Given the description of an element on the screen output the (x, y) to click on. 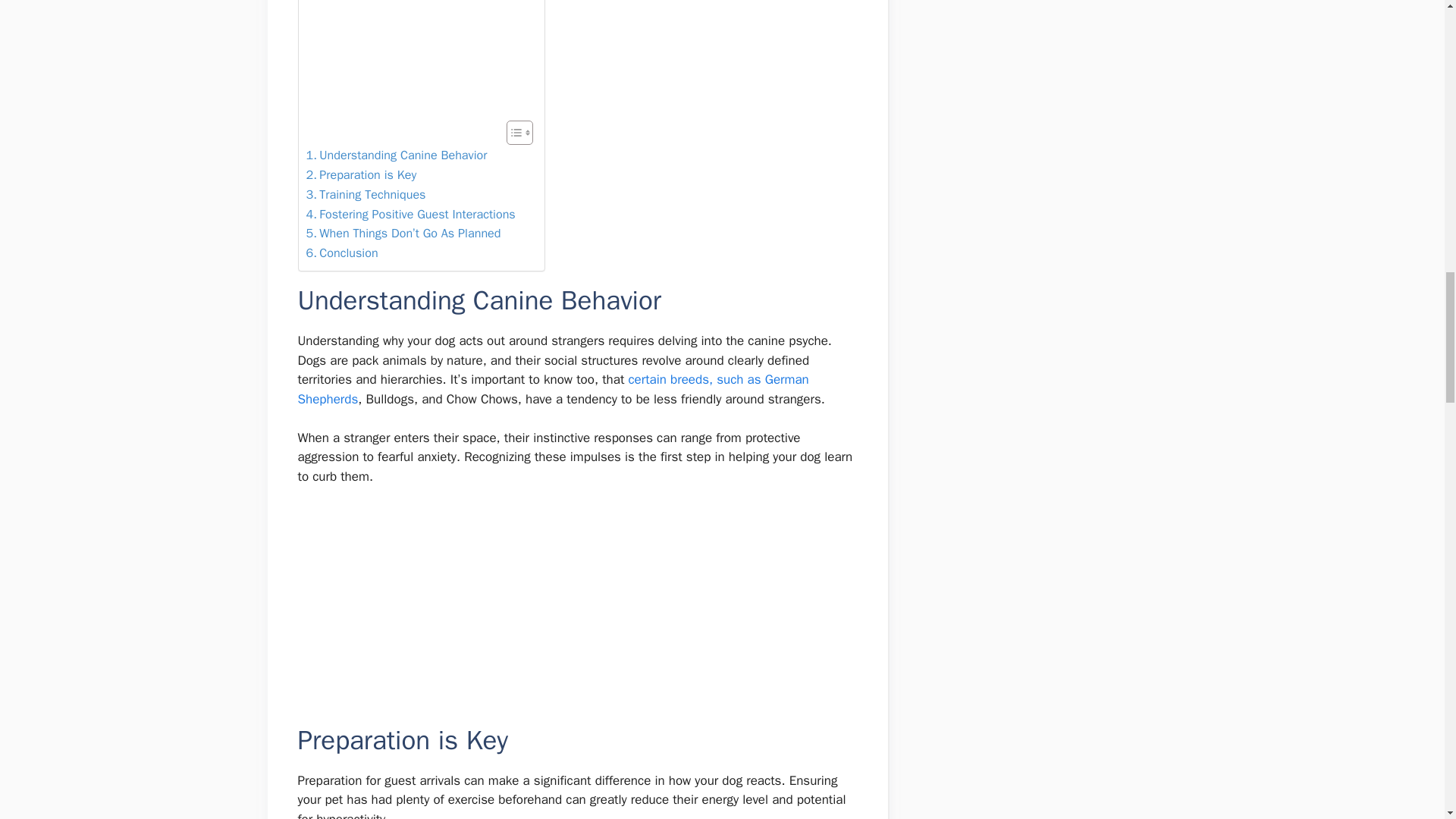
Fostering Positive Guest Interactions (410, 214)
Understanding Canine Behavior (396, 155)
Training Techniques (365, 194)
Preparation is Key (360, 175)
Training Techniques (365, 194)
Preparation is Key (360, 175)
Fostering Positive Guest Interactions (410, 214)
Conclusion (341, 252)
Understanding Canine Behavior (396, 155)
